Given the description of an element on the screen output the (x, y) to click on. 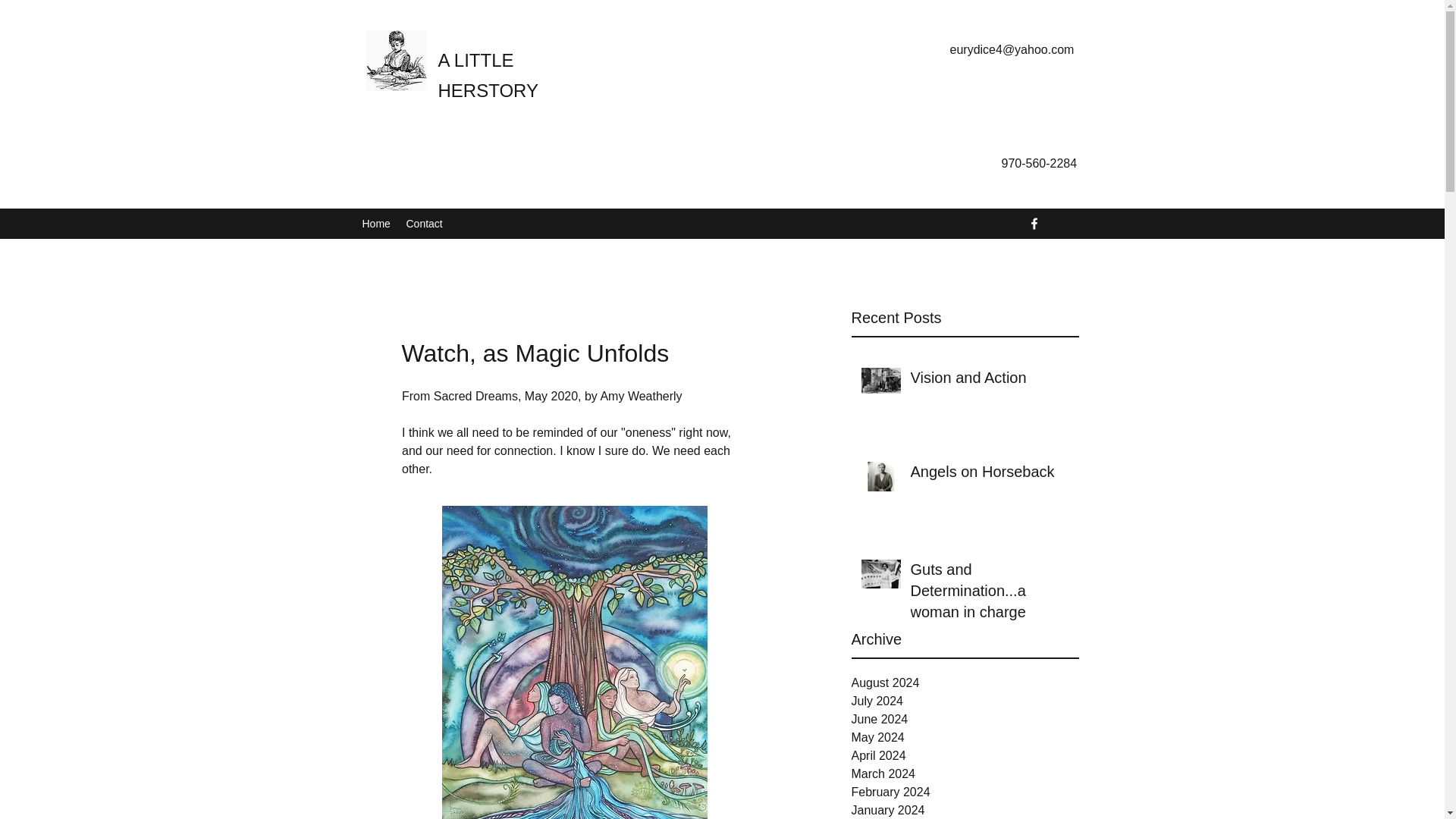
Angels on Horseback (989, 474)
July 2024 (964, 701)
Guts and Determination...a woman in charge (989, 593)
Contact (424, 223)
June 2024 (964, 719)
Vision and Action (989, 379)
February 2024 (964, 791)
April 2024 (964, 755)
March 2024 (964, 773)
August 2024 (964, 683)
